Given the description of an element on the screen output the (x, y) to click on. 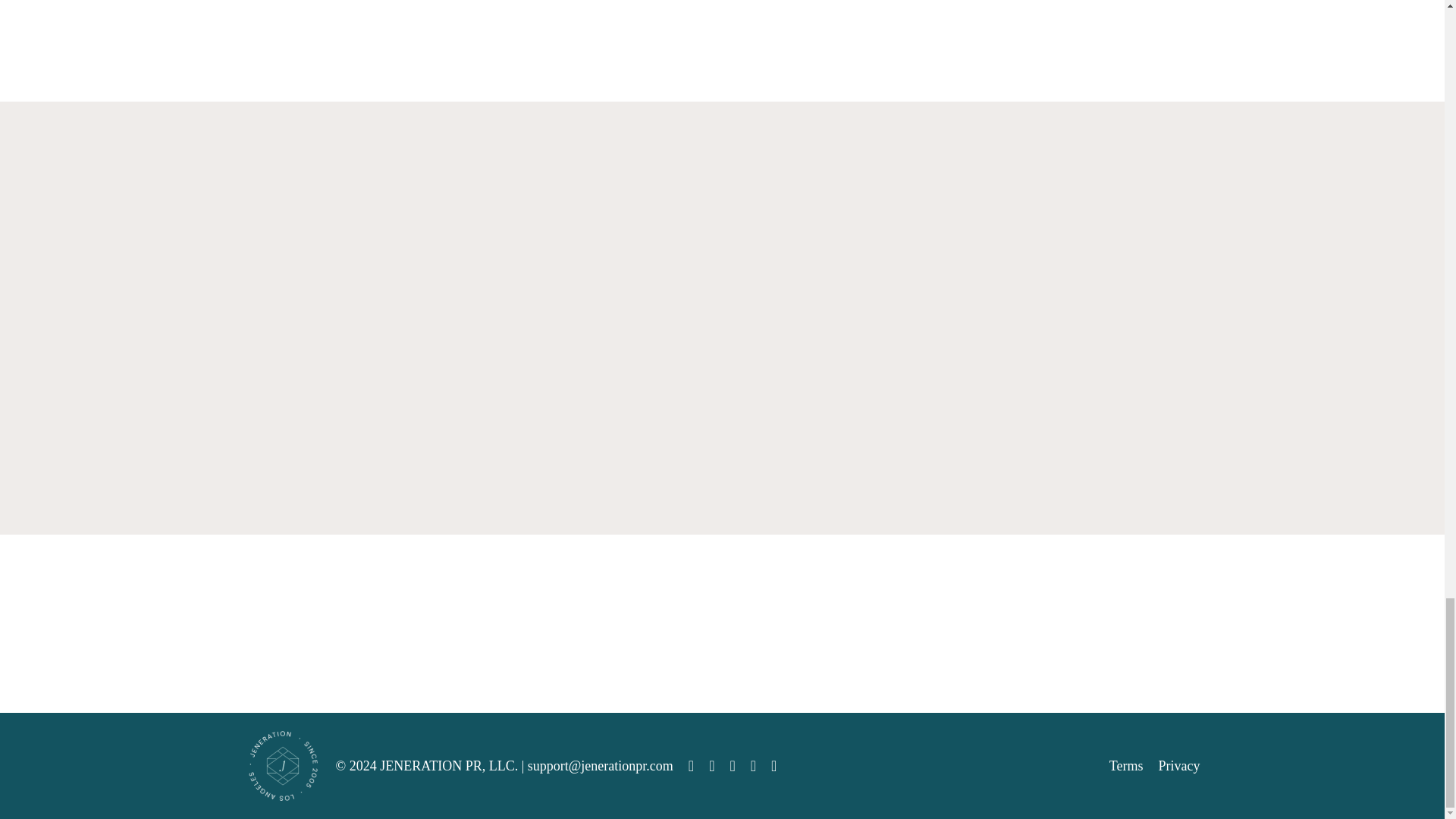
Terms (1125, 766)
Privacy (1178, 766)
Get the Stock Photos (601, 333)
Monetize Your Expertise (356, 345)
Make Gorgeous Designs (846, 342)
Grab Your Free Trial (1091, 335)
